Given the description of an element on the screen output the (x, y) to click on. 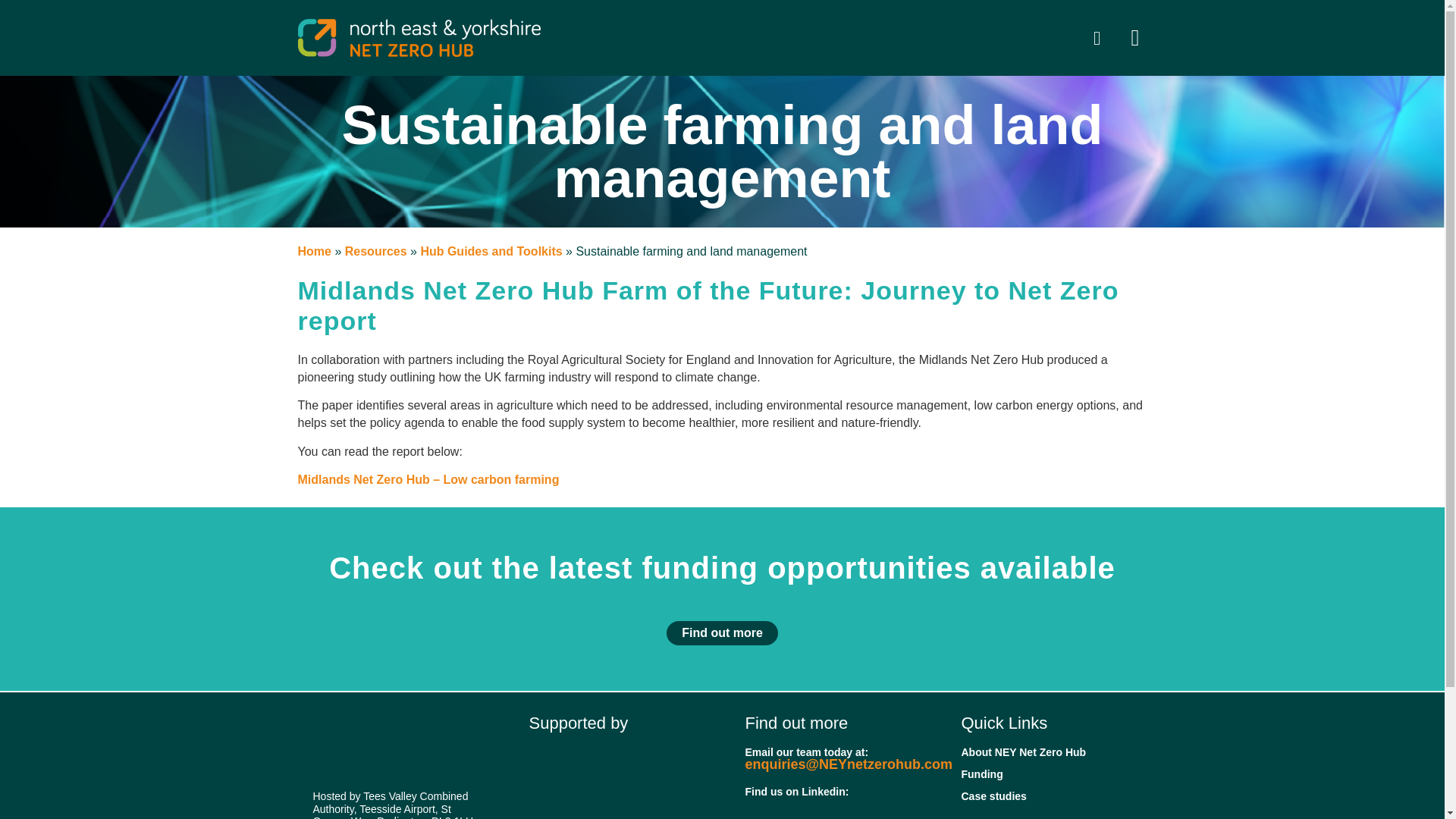
Resources (376, 250)
Hub Guides and Toolkits (491, 250)
Home (313, 250)
